Given the description of an element on the screen output the (x, y) to click on. 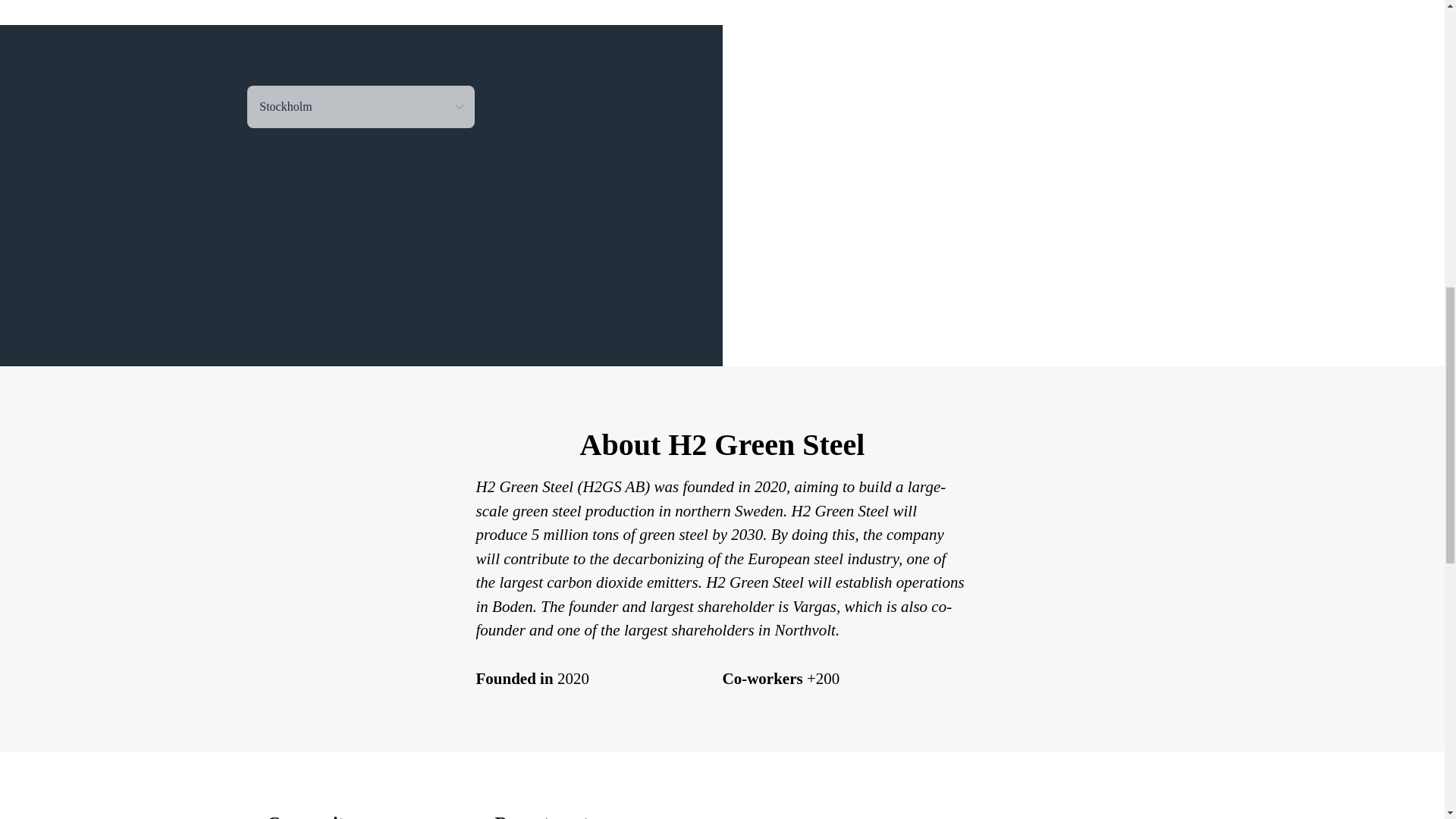
Select location (360, 106)
